Given the description of an element on the screen output the (x, y) to click on. 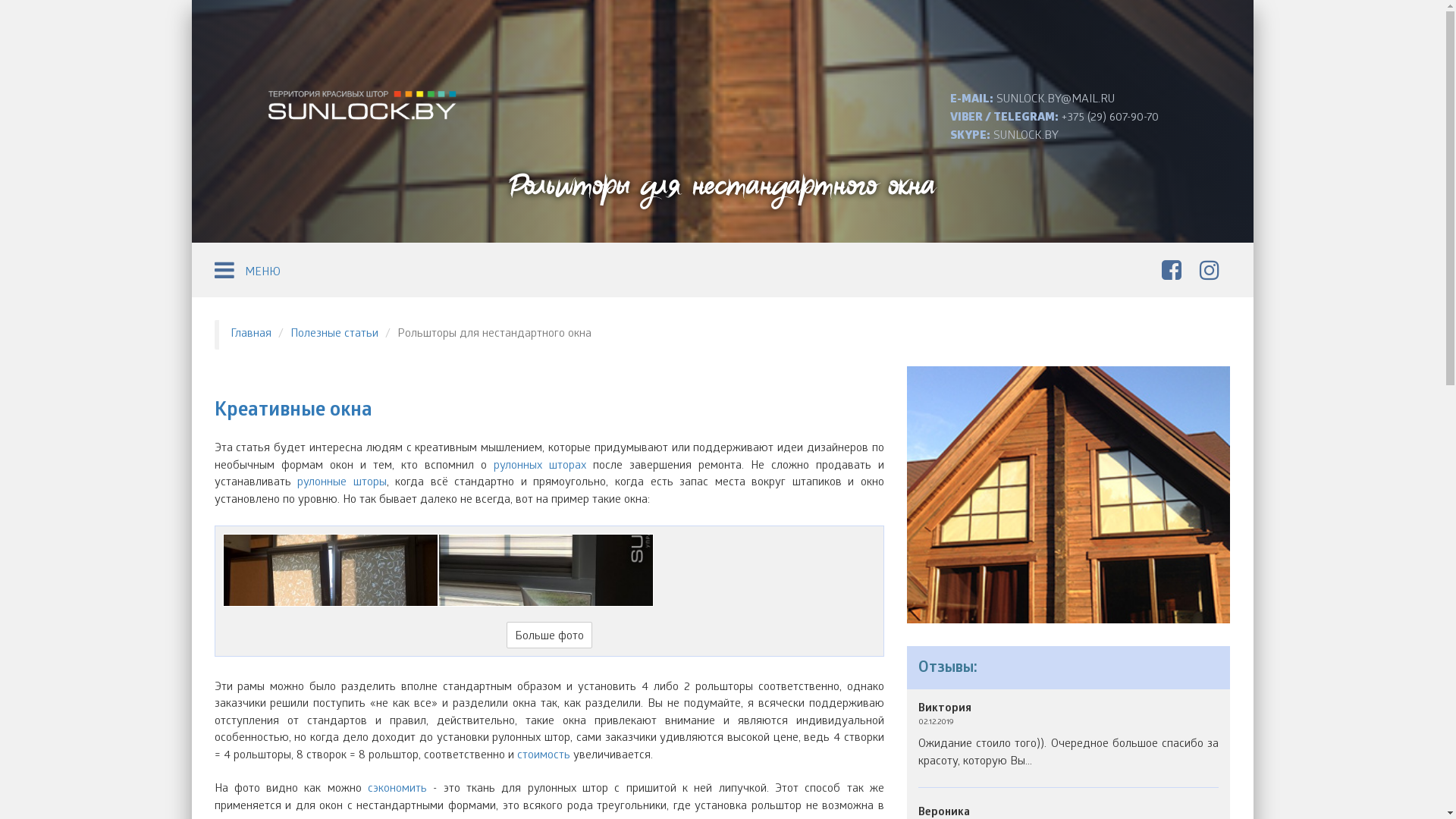
SUNLOCK.BY Element type: text (1025, 136)
Instagram Element type: hover (1212, 272)
SUNLOCK.BY@MAIL.RU Element type: text (1055, 99)
Facebook Element type: hover (1175, 272)
